Given the description of an element on the screen output the (x, y) to click on. 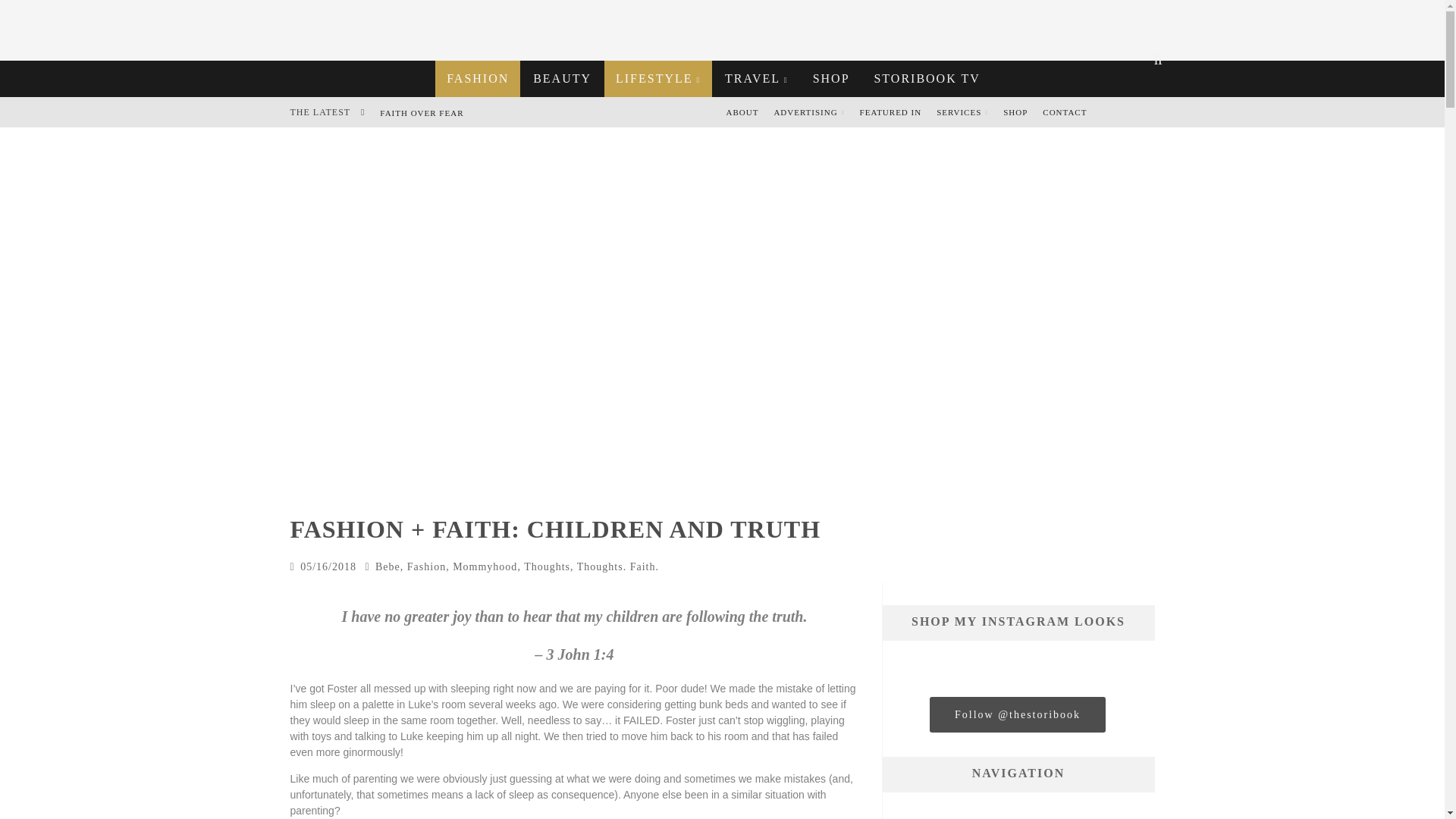
View all posts in Bebe (387, 566)
BEAUTY (561, 78)
Faith Over Fear (421, 112)
FASHION (477, 78)
